Given the description of an element on the screen output the (x, y) to click on. 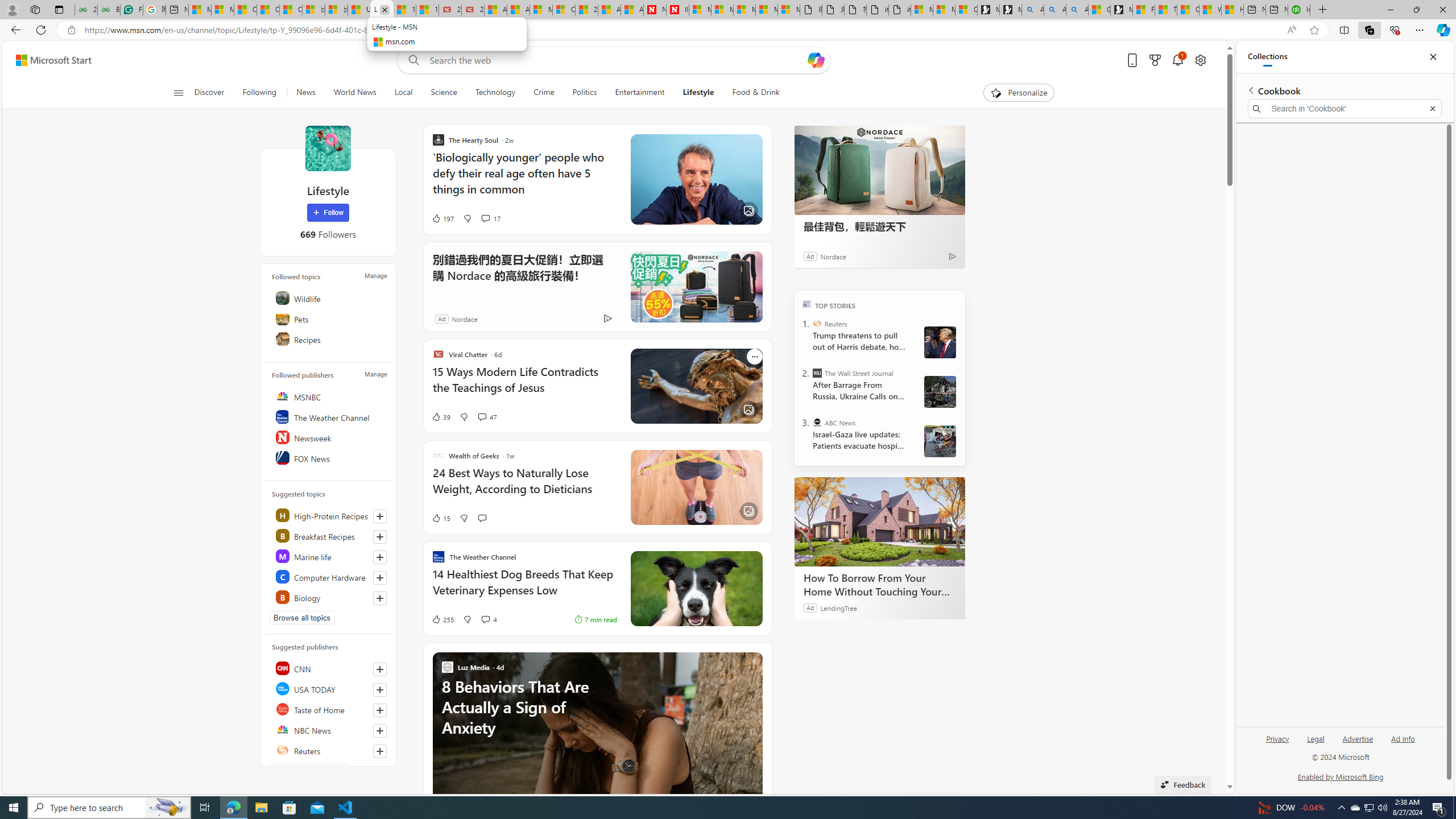
Microsoft Services Agreement (722, 9)
Browse all publishers (309, 770)
Wildlife (328, 298)
Crime (543, 92)
Close (1432, 56)
FOX News (328, 457)
ABC News (816, 422)
Back (13, 29)
Microsoft Start (53, 60)
World News (355, 92)
Open navigation menu (177, 92)
